Given the description of an element on the screen output the (x, y) to click on. 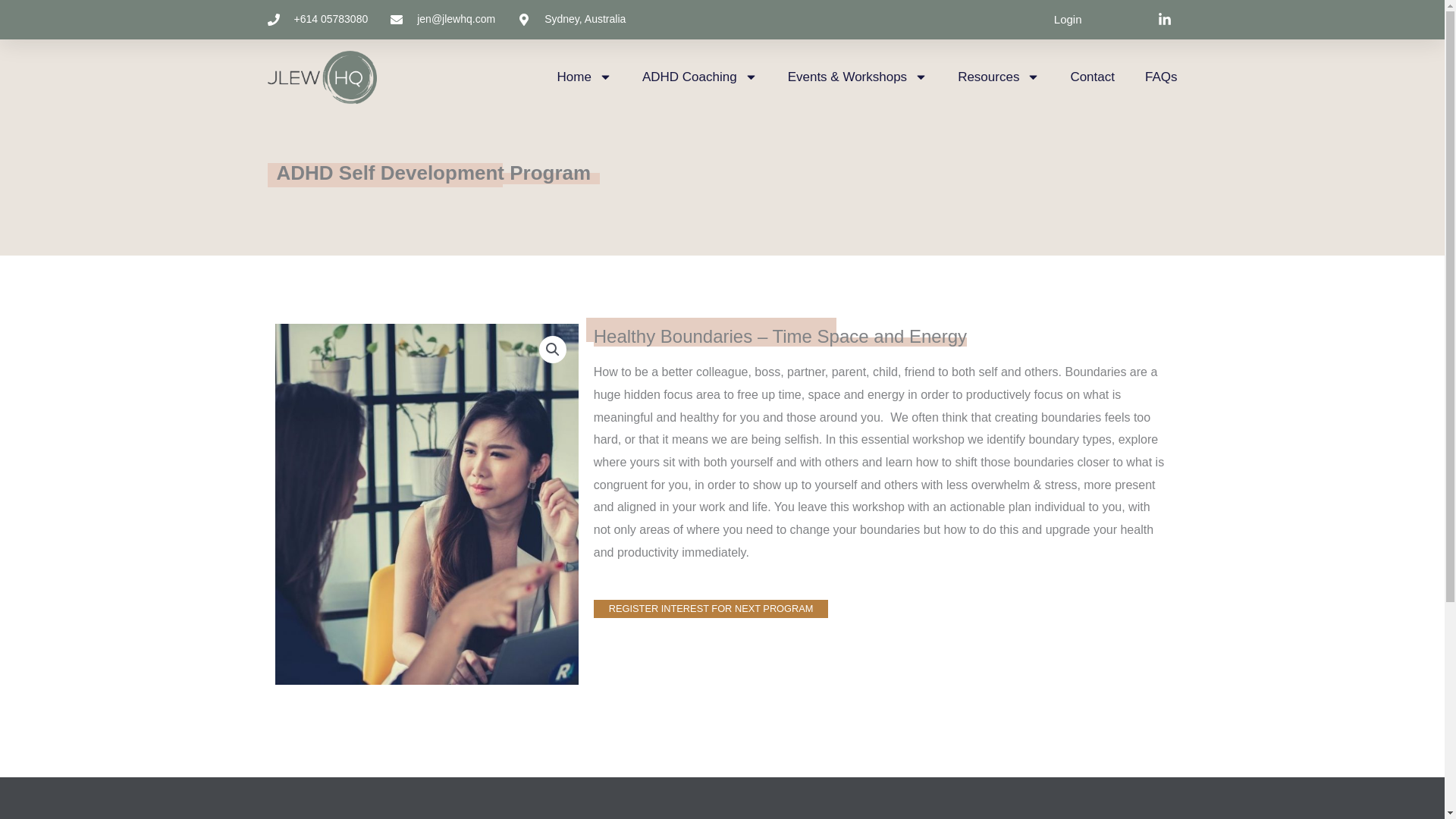
ADHD Coaching (699, 77)
FAQs (1160, 77)
Contact (1092, 77)
Home (584, 77)
Resources (998, 77)
Login (1067, 19)
REGISTER INTEREST FOR NEXT PROGRAM (711, 609)
